Given the description of an element on the screen output the (x, y) to click on. 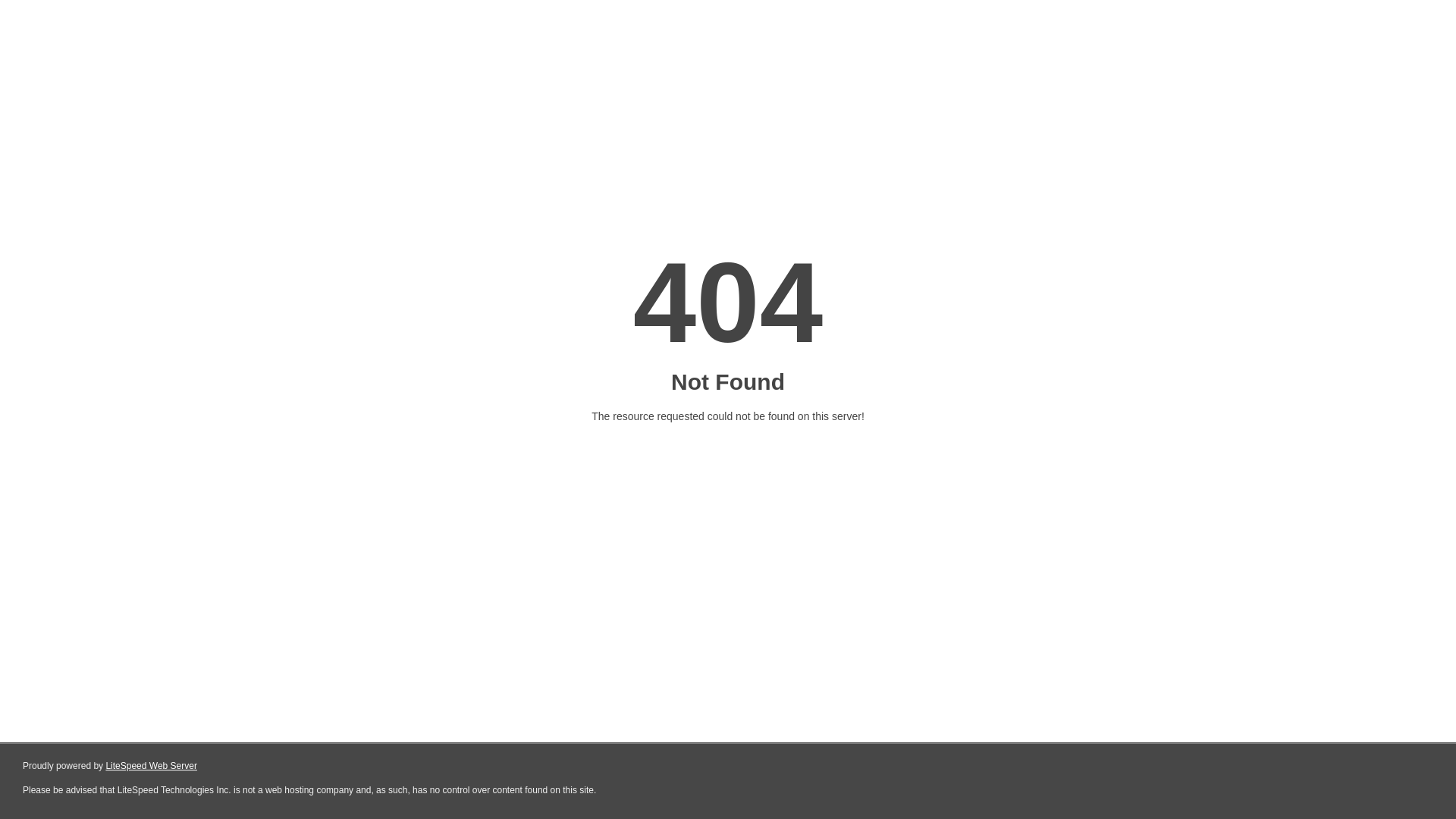
LiteSpeed Web Server Element type: text (151, 765)
